Given the description of an element on the screen output the (x, y) to click on. 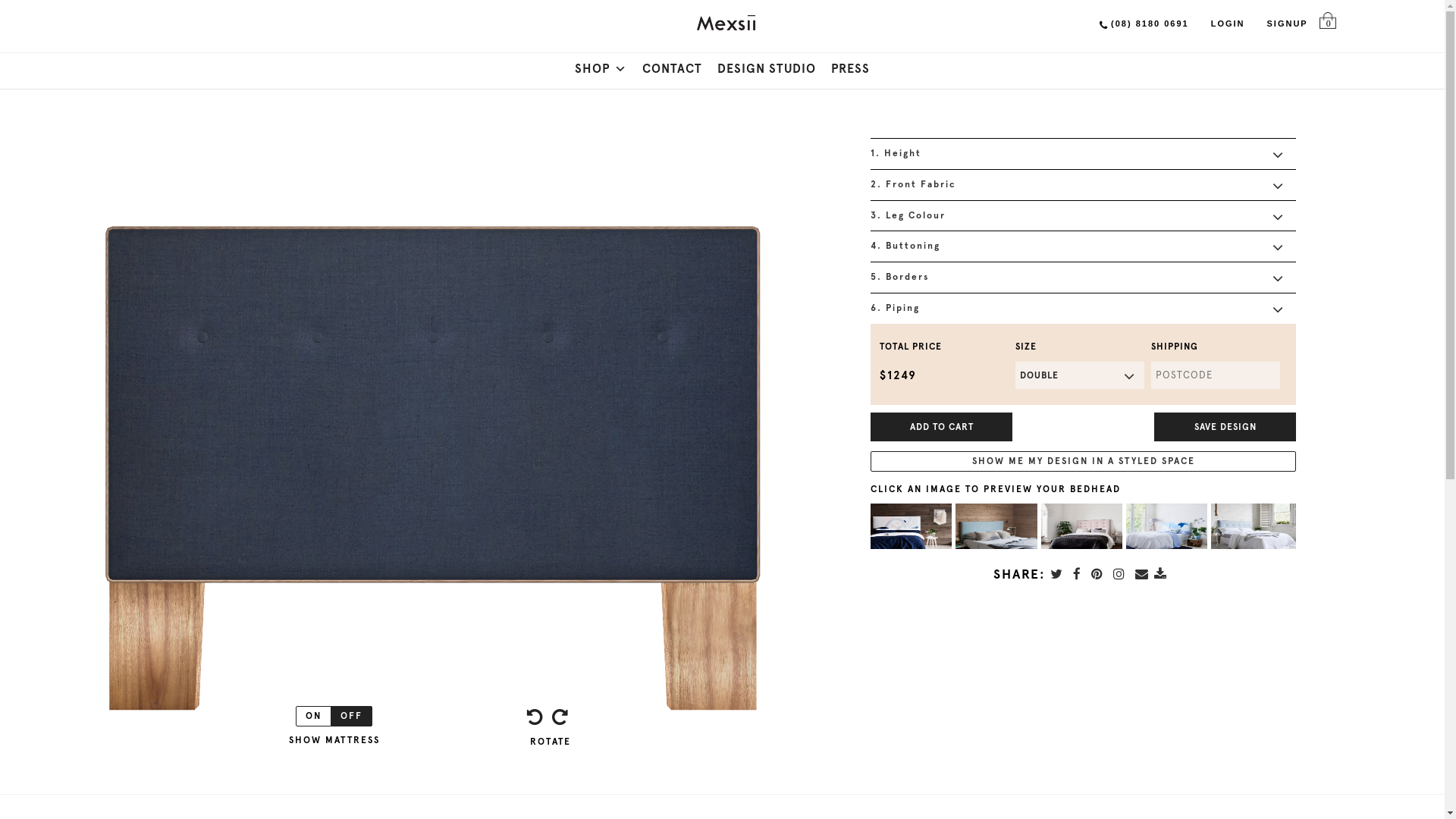
4. Buttoning Element type: text (1082, 245)
ADD TO CART Element type: text (941, 426)
SHOP Element type: text (600, 68)
0 Element type: text (1325, 23)
SAVE DESIGN Element type: text (1224, 426)
SIGNUP Element type: text (1287, 20)
DESIGN STUDIO Element type: text (766, 68)
LOGIN Element type: text (1227, 20)
ON Element type: text (313, 716)
OFF Element type: text (351, 716)
6. Piping Element type: text (1082, 307)
  Element type: text (1099, 573)
3. Leg Colour Element type: text (1082, 214)
1. Height Element type: text (1082, 152)
2. Front Fabric Element type: text (1082, 183)
CONTACT Element type: text (671, 68)
  Element type: text (1121, 573)
PRESS Element type: text (850, 68)
(08) 8180 0691 Element type: text (1143, 22)
5. Borders Element type: text (1082, 276)
  Element type: text (1079, 573)
  Element type: text (1163, 573)
